Given the description of an element on the screen output the (x, y) to click on. 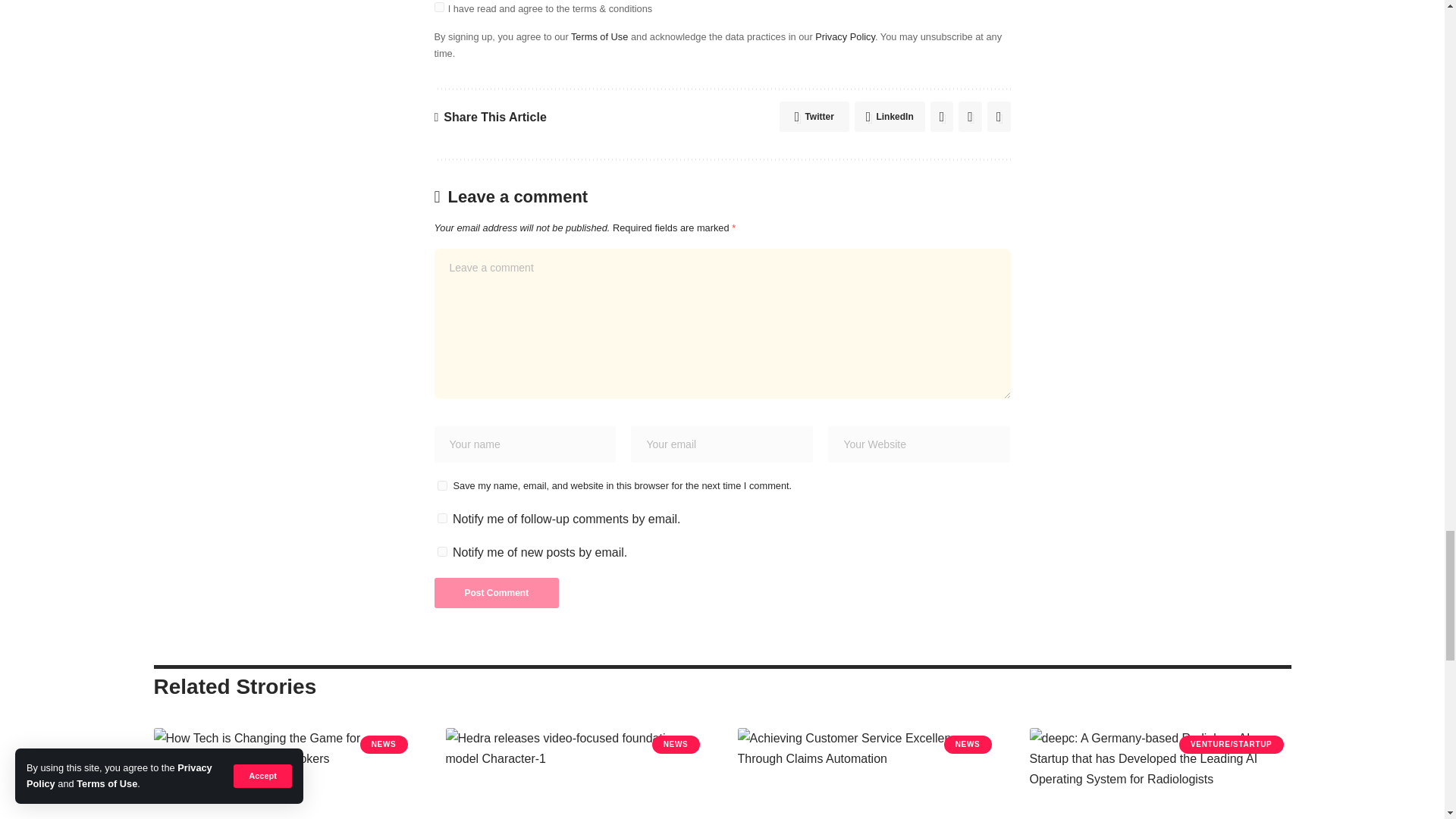
subscribe (441, 551)
yes (441, 485)
1 (438, 7)
Post Comment (496, 593)
subscribe (441, 518)
Hedra releases video-focused foundation model Character-1 (576, 773)
